Given the description of an element on the screen output the (x, y) to click on. 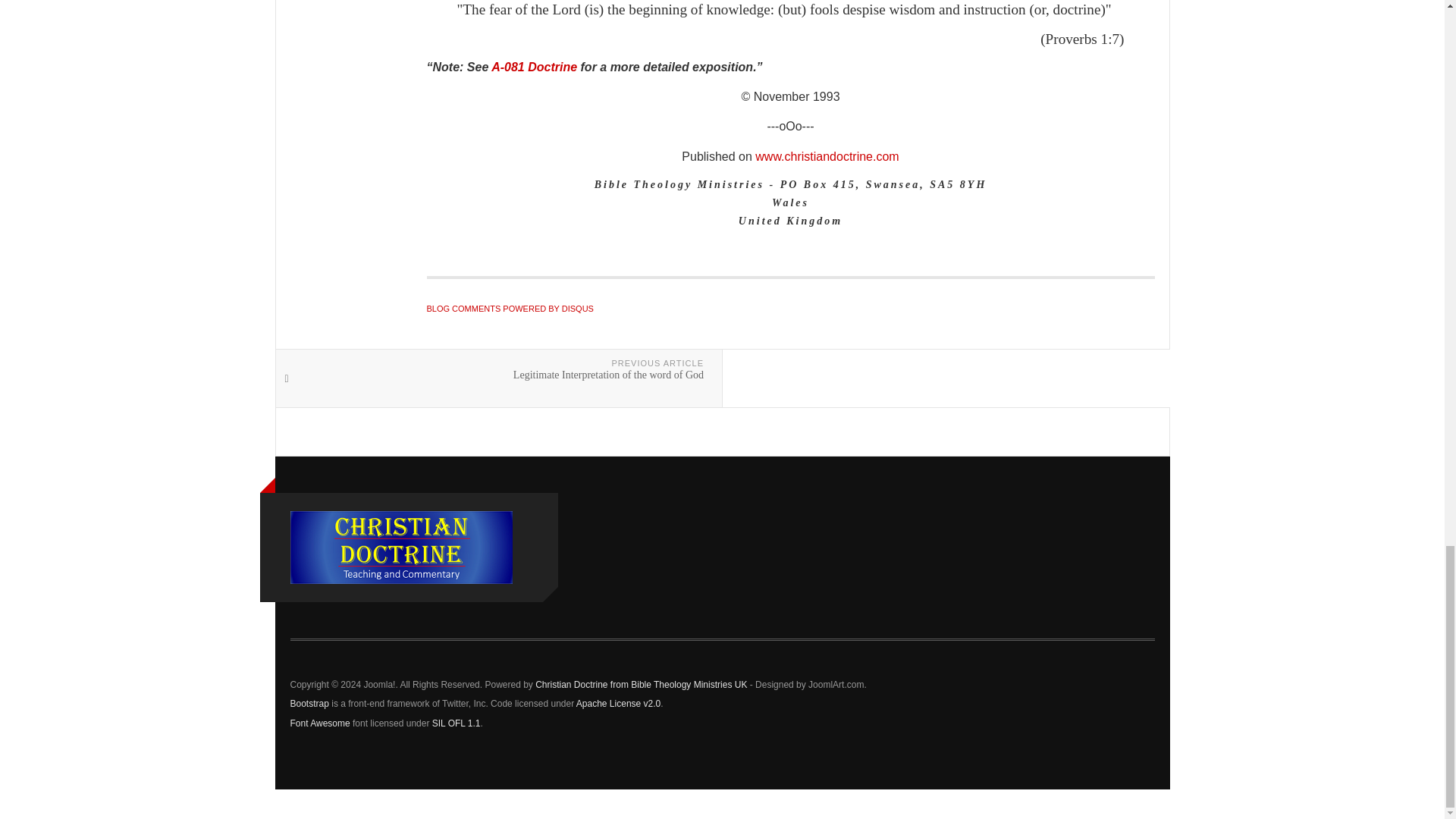
Christian Doctrine from Bible Theology Ministries UK (640, 684)
A-081 Doctrine (531, 66)
Christian Doctrine by Bible Theology Ministries (826, 155)
Christian Doctrine from Bible Theology Ministries UK (400, 547)
